Given the description of an element on the screen output the (x, y) to click on. 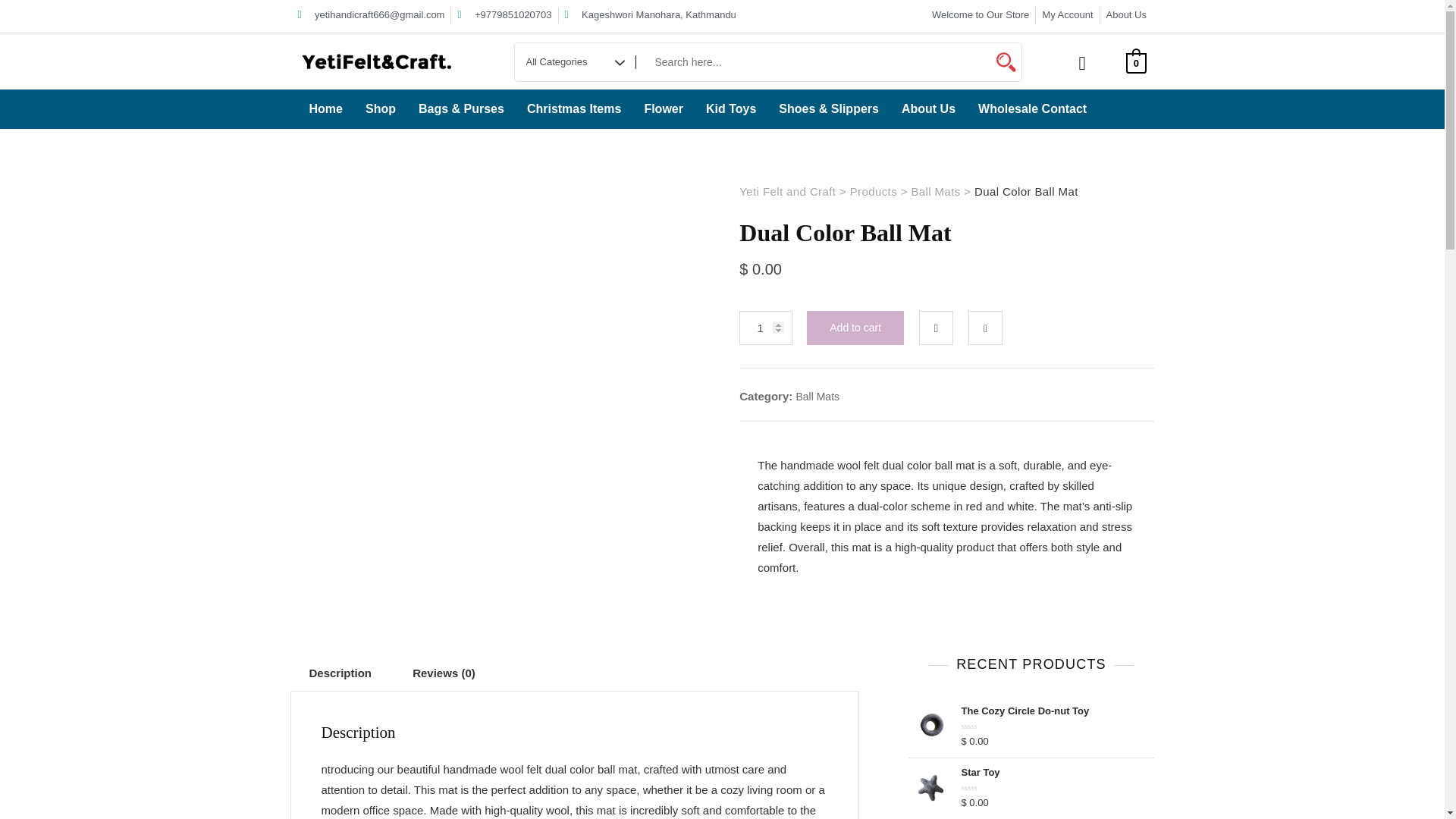
Go to the Ball Mats Category archives. (935, 191)
Christmas Items (574, 109)
Flower (662, 109)
Qty (765, 327)
About Us (1125, 15)
Home (325, 109)
Go to Products. (873, 191)
Kid Toys (730, 109)
Welcome to Our Store (980, 15)
My Account (1067, 15)
